Given the description of an element on the screen output the (x, y) to click on. 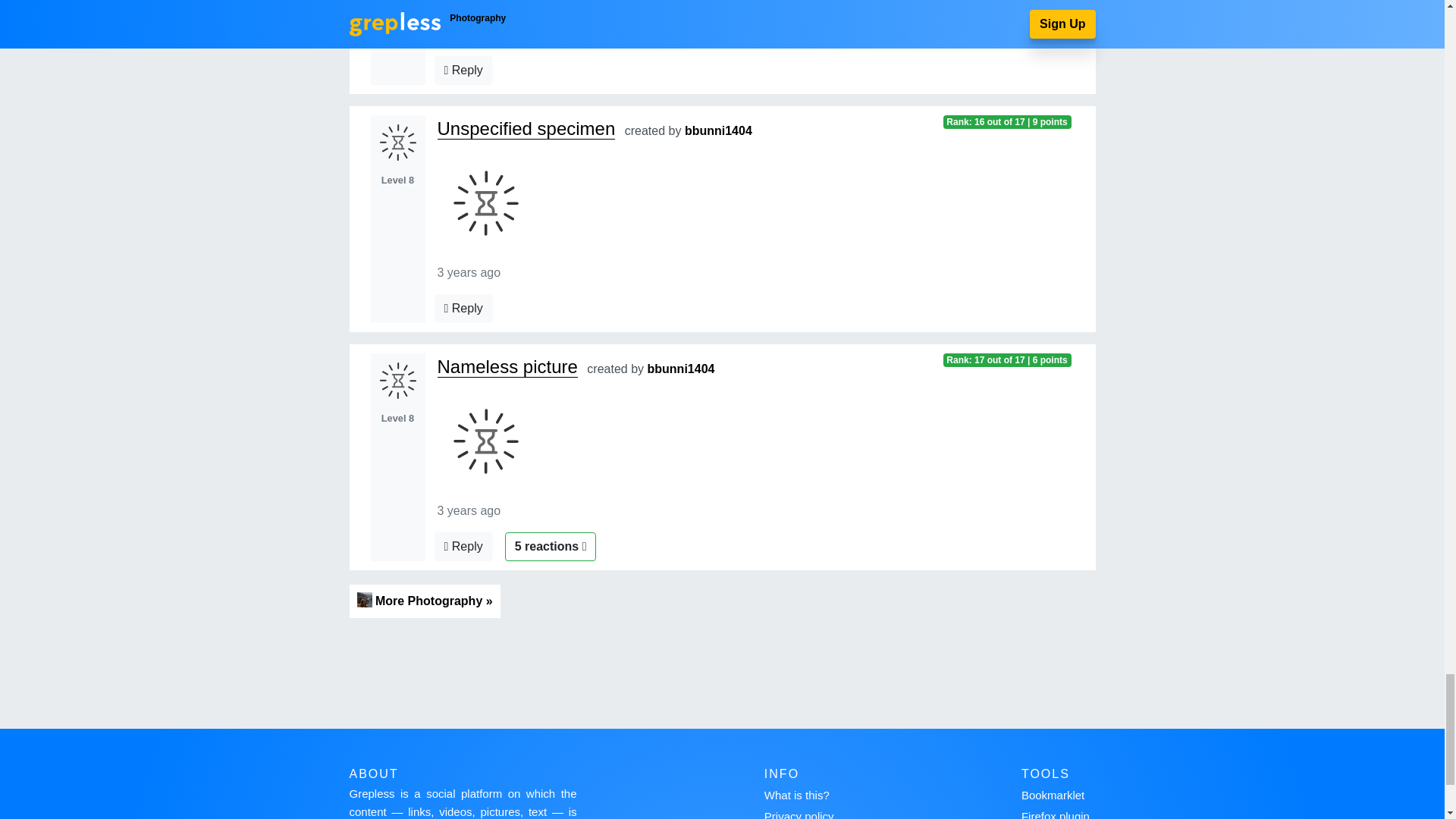
Answers to this response (462, 546)
Answers to this response (462, 308)
Answers to this response (462, 70)
